Given the description of an element on the screen output the (x, y) to click on. 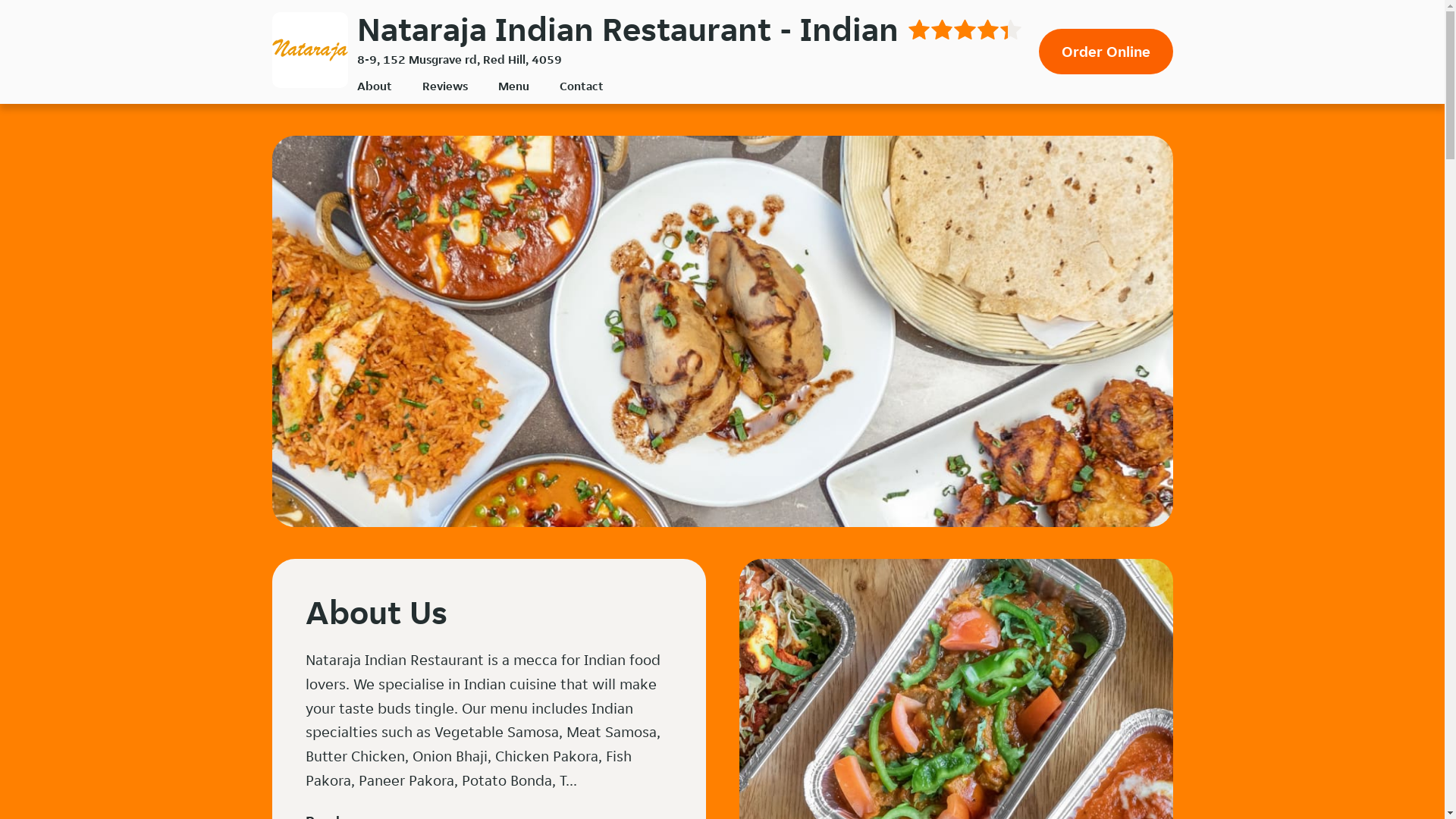
Reviews Element type: text (444, 86)
Contact Element type: text (581, 86)
Menu Element type: text (512, 86)
About Element type: text (373, 86)
Nataraja Indian Restaurant Element type: hover (309, 49)
Order Online Element type: text (1105, 51)
